Given the description of an element on the screen output the (x, y) to click on. 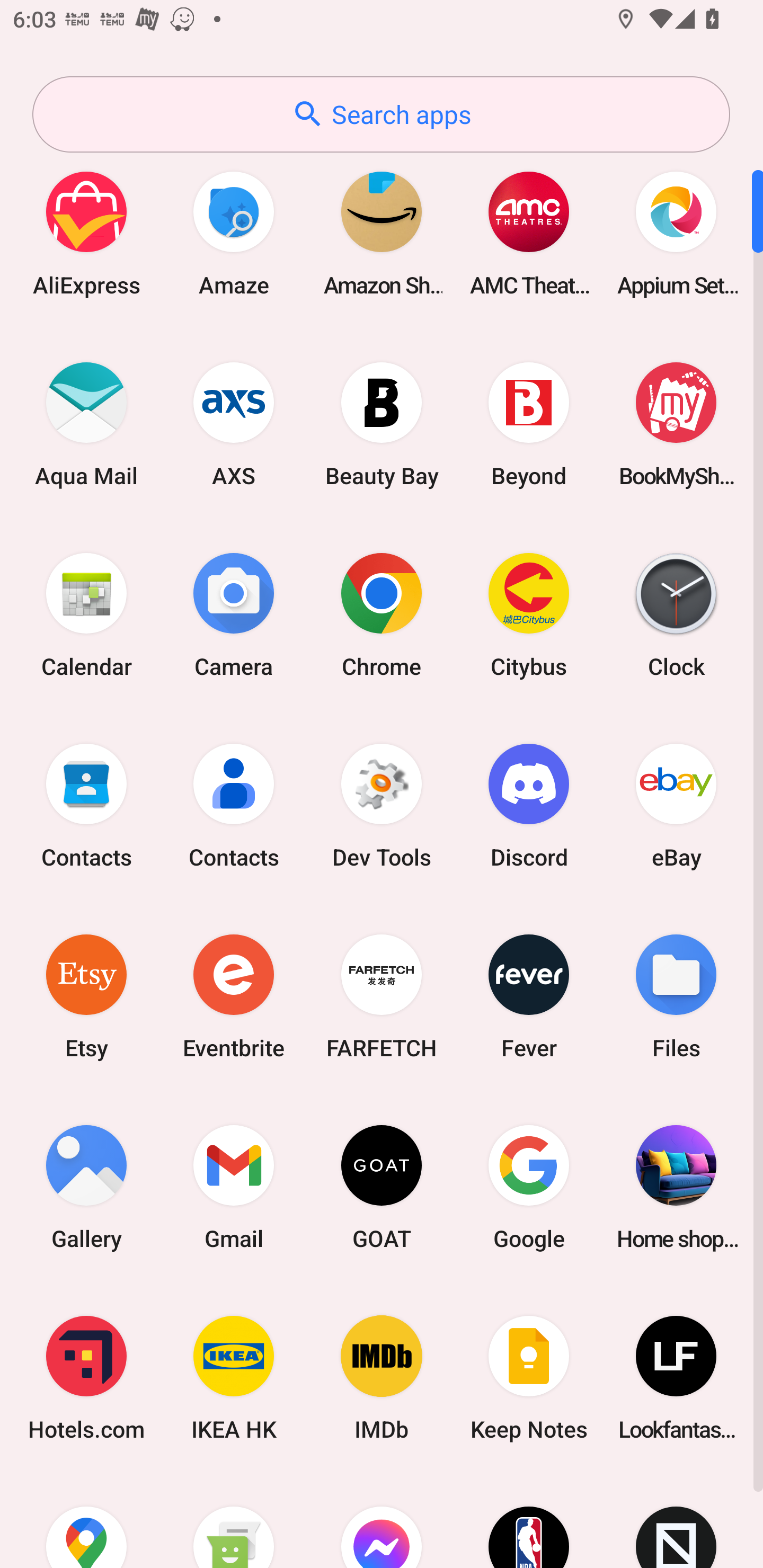
  Search apps (381, 114)
AliExpress (86, 233)
Amaze (233, 233)
Amazon Shopping (381, 233)
AMC Theatres (528, 233)
Appium Settings (676, 233)
Aqua Mail (86, 424)
AXS (233, 424)
Beauty Bay (381, 424)
Beyond (528, 424)
BookMyShow (676, 424)
Calendar (86, 614)
Camera (233, 614)
Chrome (381, 614)
Citybus (528, 614)
Clock (676, 614)
Contacts (86, 805)
Contacts (233, 805)
Dev Tools (381, 805)
Discord (528, 805)
eBay (676, 805)
Etsy (86, 996)
Eventbrite (233, 996)
FARFETCH (381, 996)
Fever (528, 996)
Files (676, 996)
Gallery (86, 1186)
Gmail (233, 1186)
GOAT (381, 1186)
Google (528, 1186)
Home shopping (676, 1186)
Hotels.com (86, 1377)
IKEA HK (233, 1377)
IMDb (381, 1377)
Keep Notes (528, 1377)
Lookfantastic (676, 1377)
Maps (86, 1520)
Messaging (233, 1520)
Messenger (381, 1520)
NBA (528, 1520)
Novelship (676, 1520)
